Given the description of an element on the screen output the (x, y) to click on. 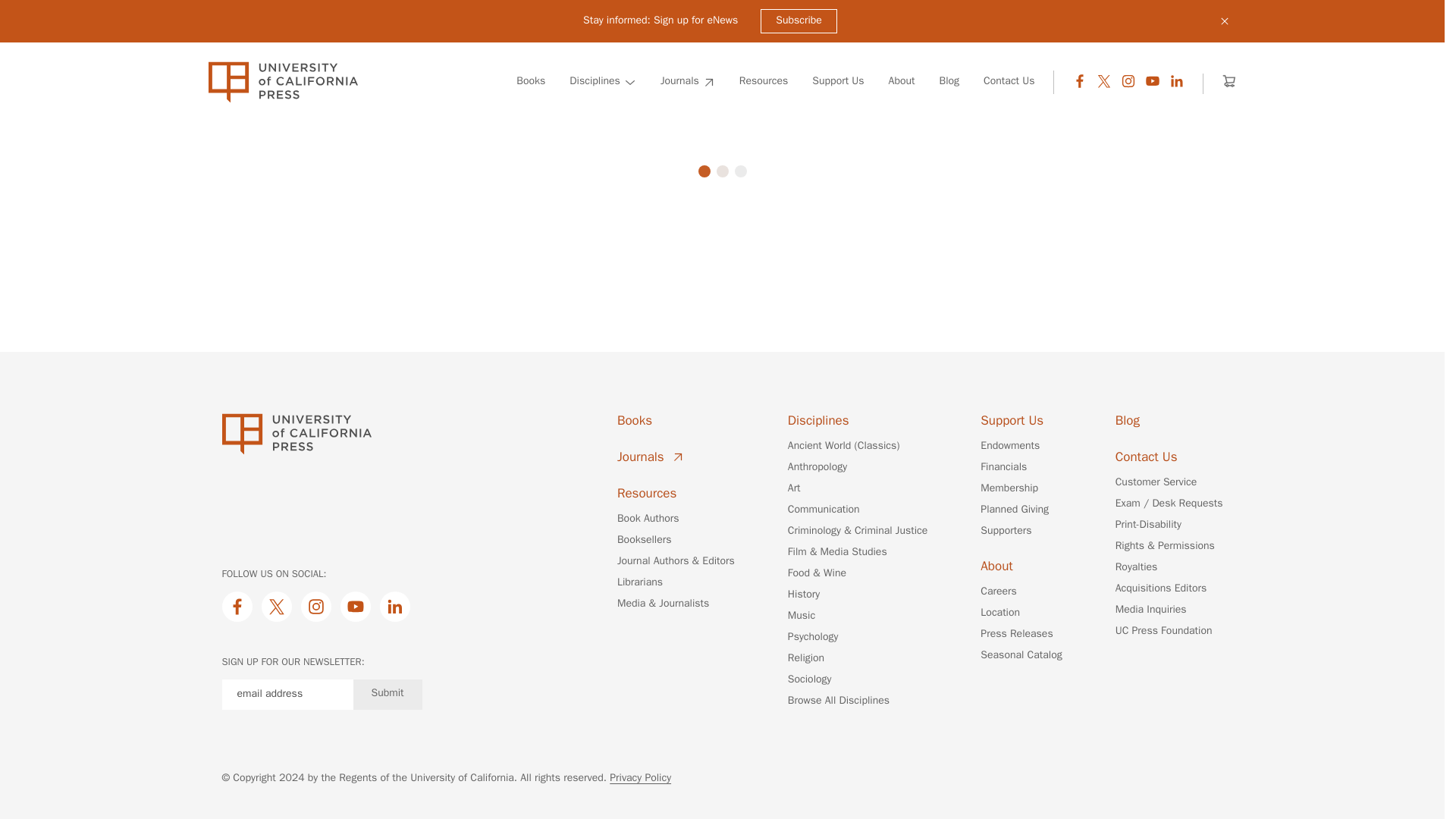
Subscribe (798, 21)
Disciplines (602, 82)
University of California Press (282, 82)
Books (530, 82)
Resources (764, 82)
Dismiss (1223, 21)
